Given the description of an element on the screen output the (x, y) to click on. 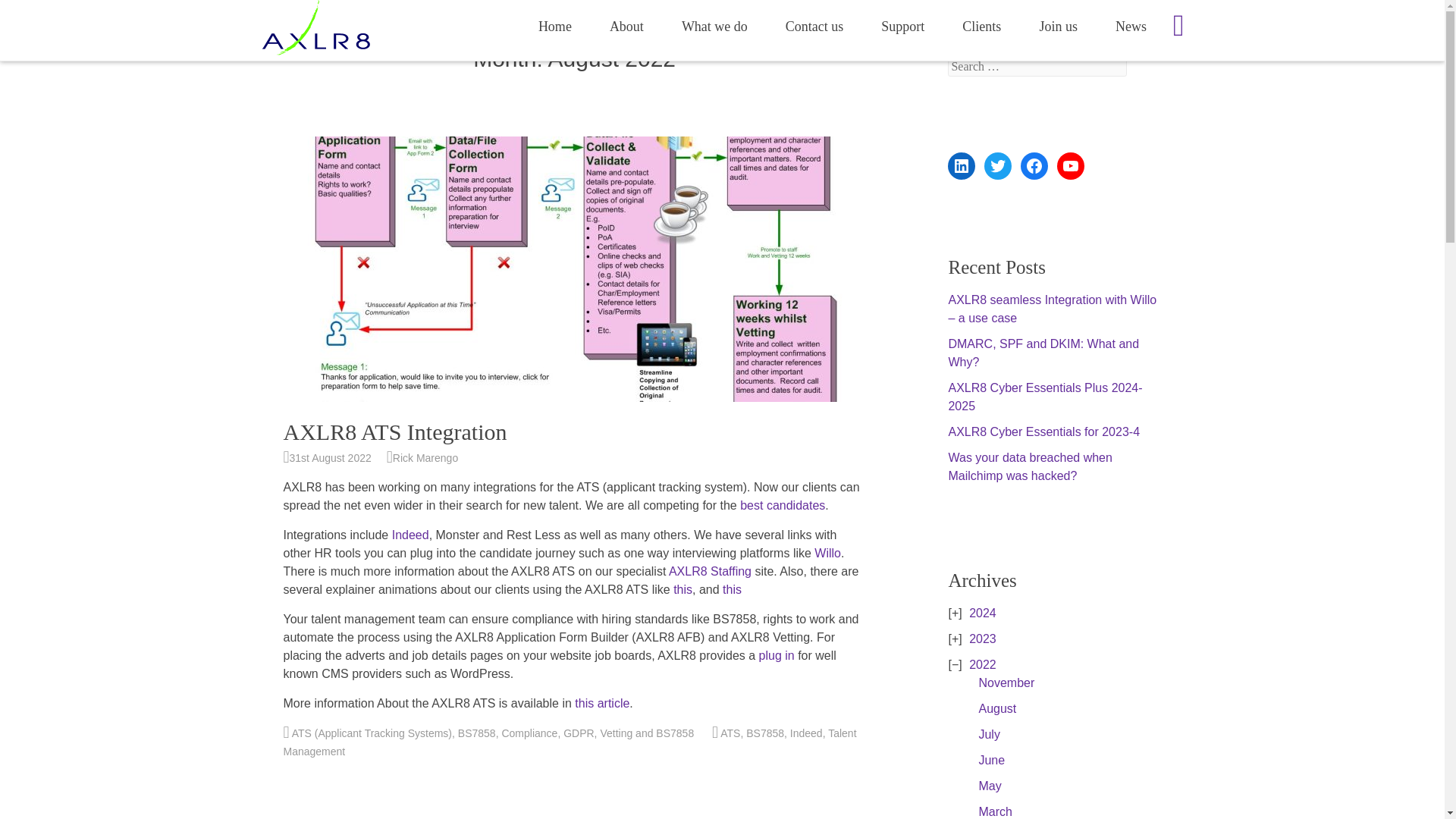
Join us (1058, 25)
Support (902, 25)
AXLR8 ATS Integration (394, 431)
Indeed (410, 534)
this (682, 589)
Contact us (815, 25)
AXLR8 (429, 20)
this (731, 589)
What we do (714, 25)
best candidates (782, 504)
